Given the description of an element on the screen output the (x, y) to click on. 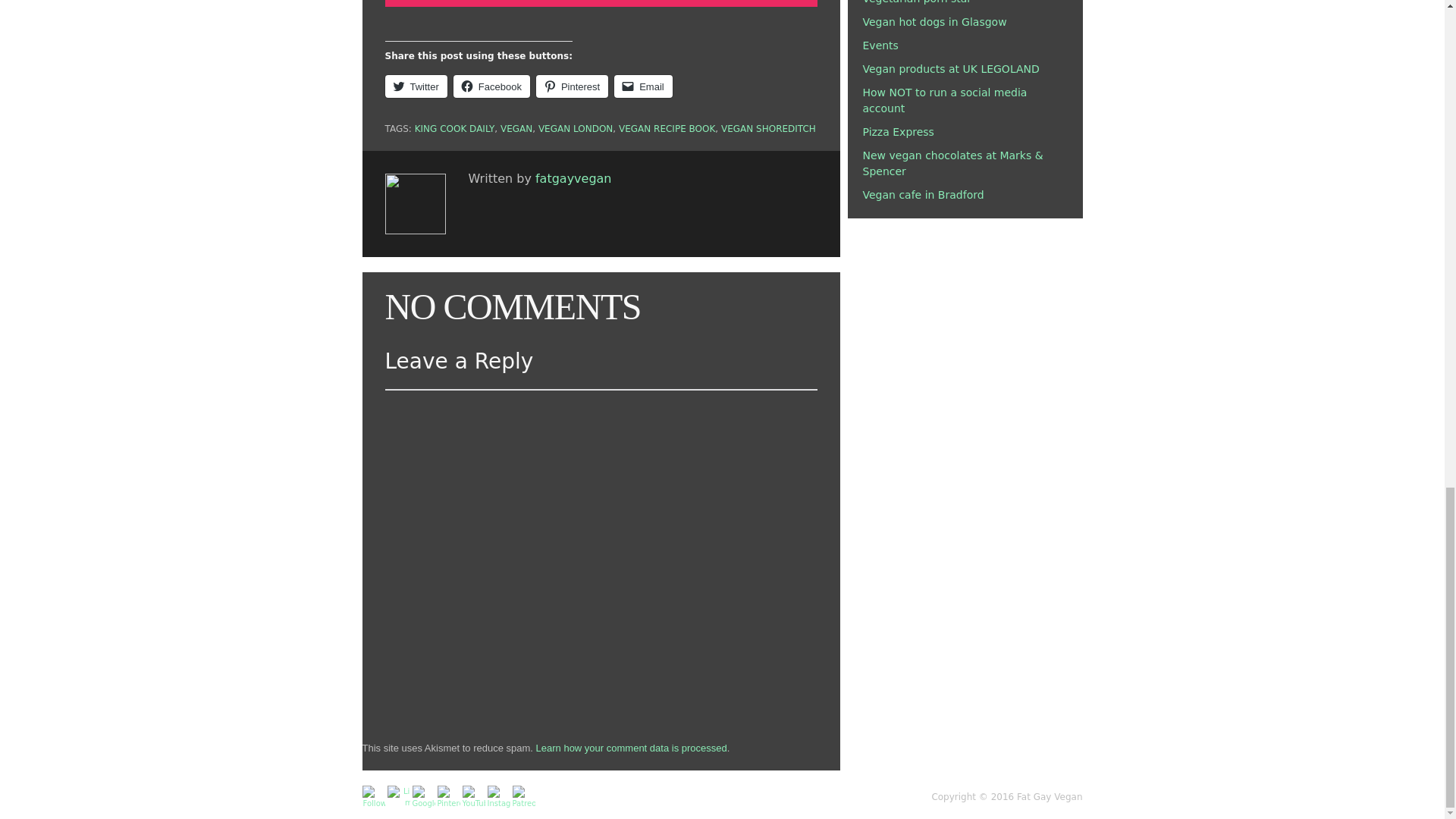
Click to share on Facebook (490, 86)
KING COOK DAILY (454, 128)
Email (643, 86)
VEGAN LONDON (575, 128)
Learn how your comment data is processed (630, 747)
Click to email a link to a friend (643, 86)
VEGAN RECIPE BOOK (666, 128)
Pinterest (571, 86)
fatgayvegan (573, 178)
